Given the description of an element on the screen output the (x, y) to click on. 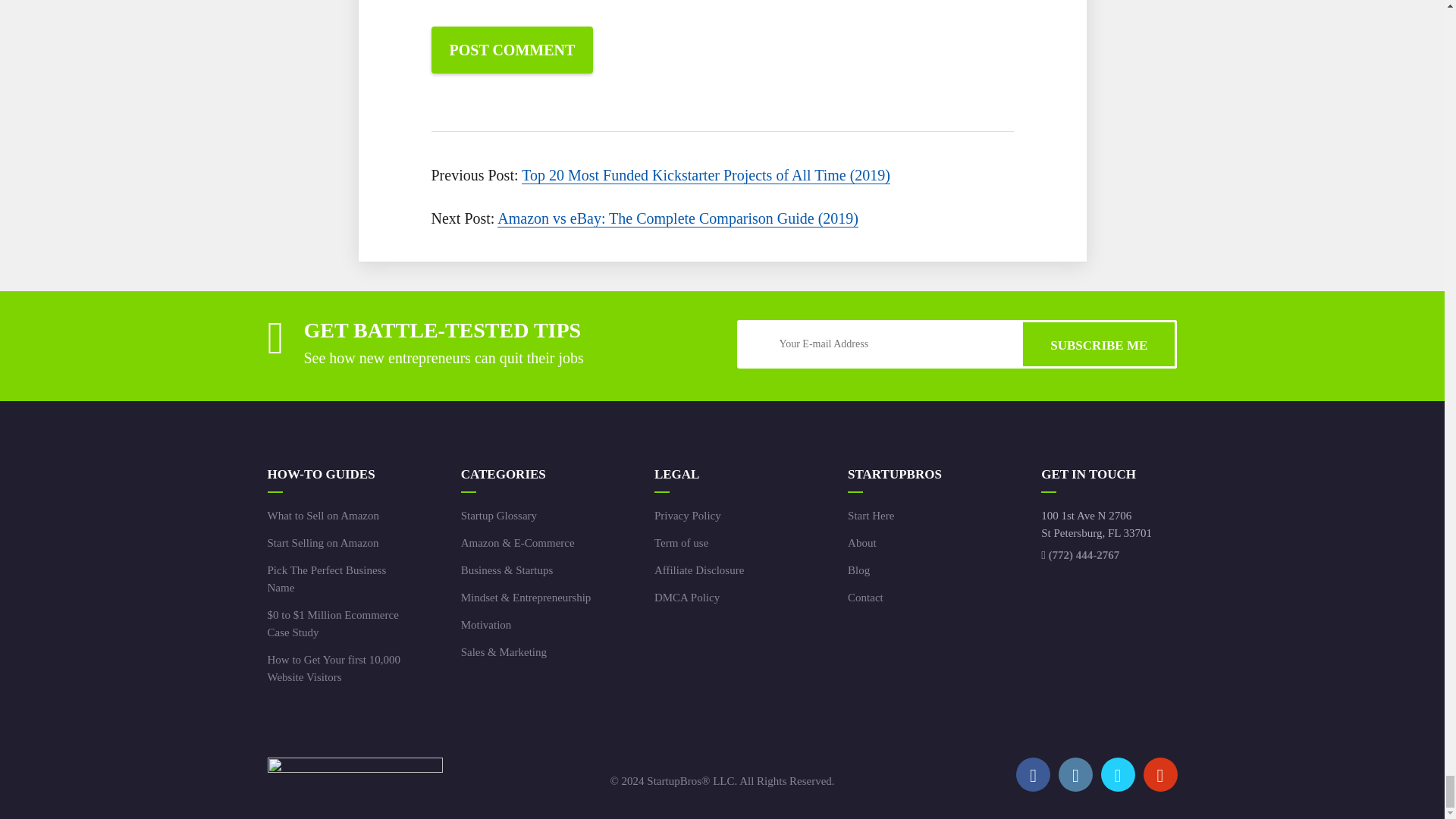
Post Comment (511, 49)
